Given the description of an element on the screen output the (x, y) to click on. 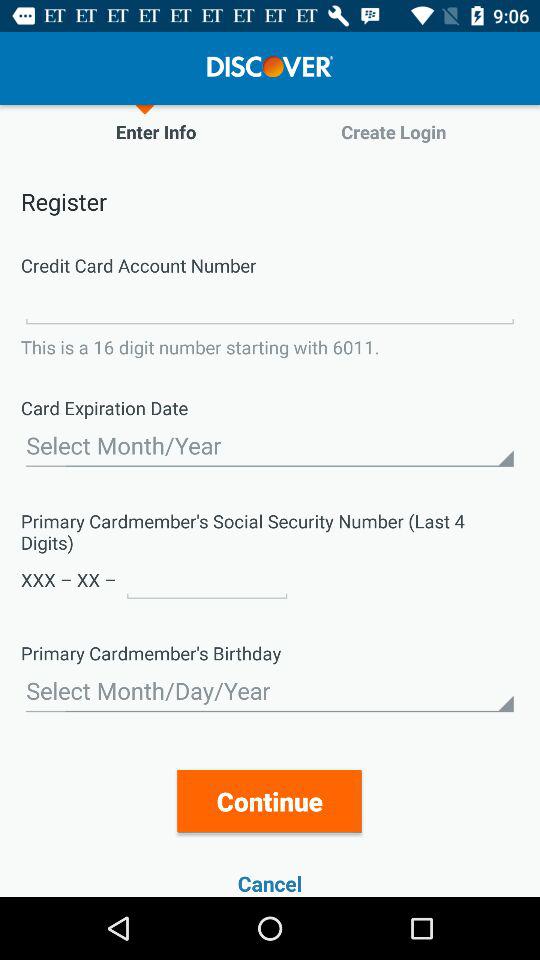
jump to the cancel item (269, 884)
